Given the description of an element on the screen output the (x, y) to click on. 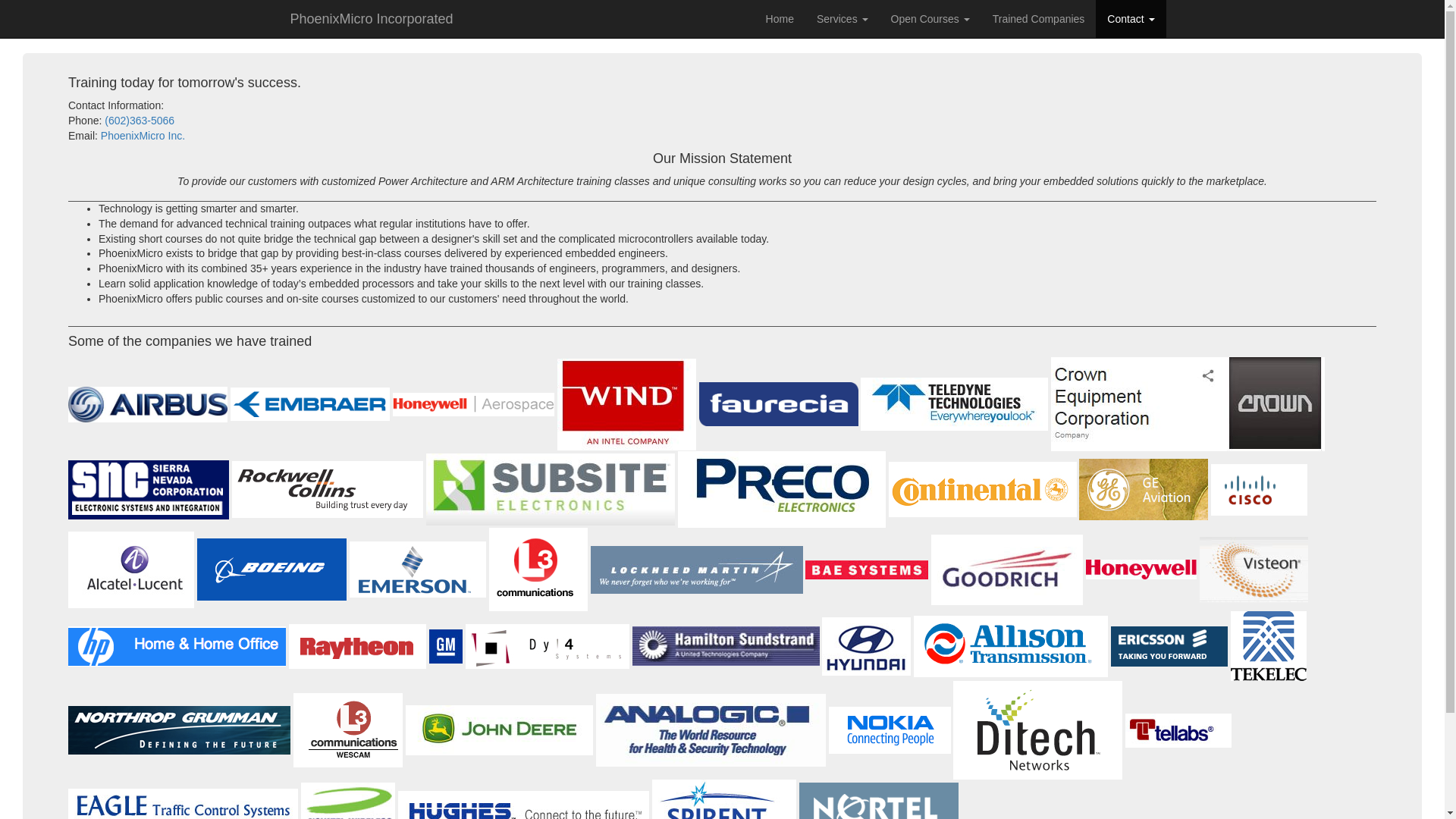
PhoenixMicro Incorporated (371, 18)
Home (779, 18)
PhoenixMicro Inc. (142, 135)
Open Courses (930, 18)
Trained Companies (1038, 18)
Contact (1131, 18)
Services (842, 18)
